Given the description of an element on the screen output the (x, y) to click on. 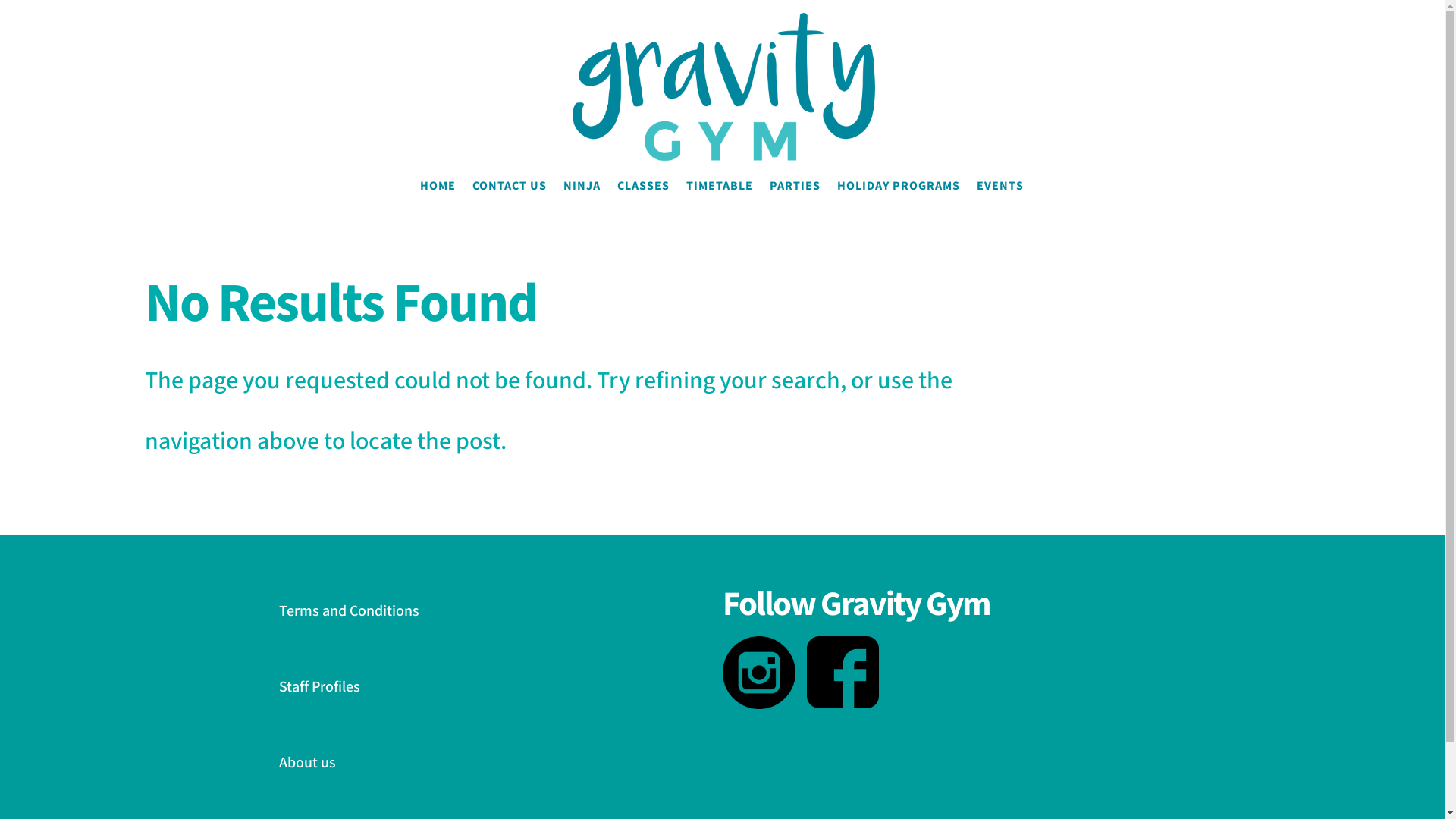
CONTACT US Element type: text (508, 201)
CLASSES Element type: text (643, 201)
PARTIES Element type: text (793, 201)
Terms and Conditions  Element type: text (350, 611)
TIMETABLE Element type: text (718, 201)
HOLIDAY PROGRAMS Element type: text (898, 201)
About us  Element type: text (308, 762)
NINJA Element type: text (580, 201)
HOME Element type: text (437, 201)
EVENTS Element type: text (999, 201)
Staff Profiles  Element type: text (321, 686)
